Given the description of an element on the screen output the (x, y) to click on. 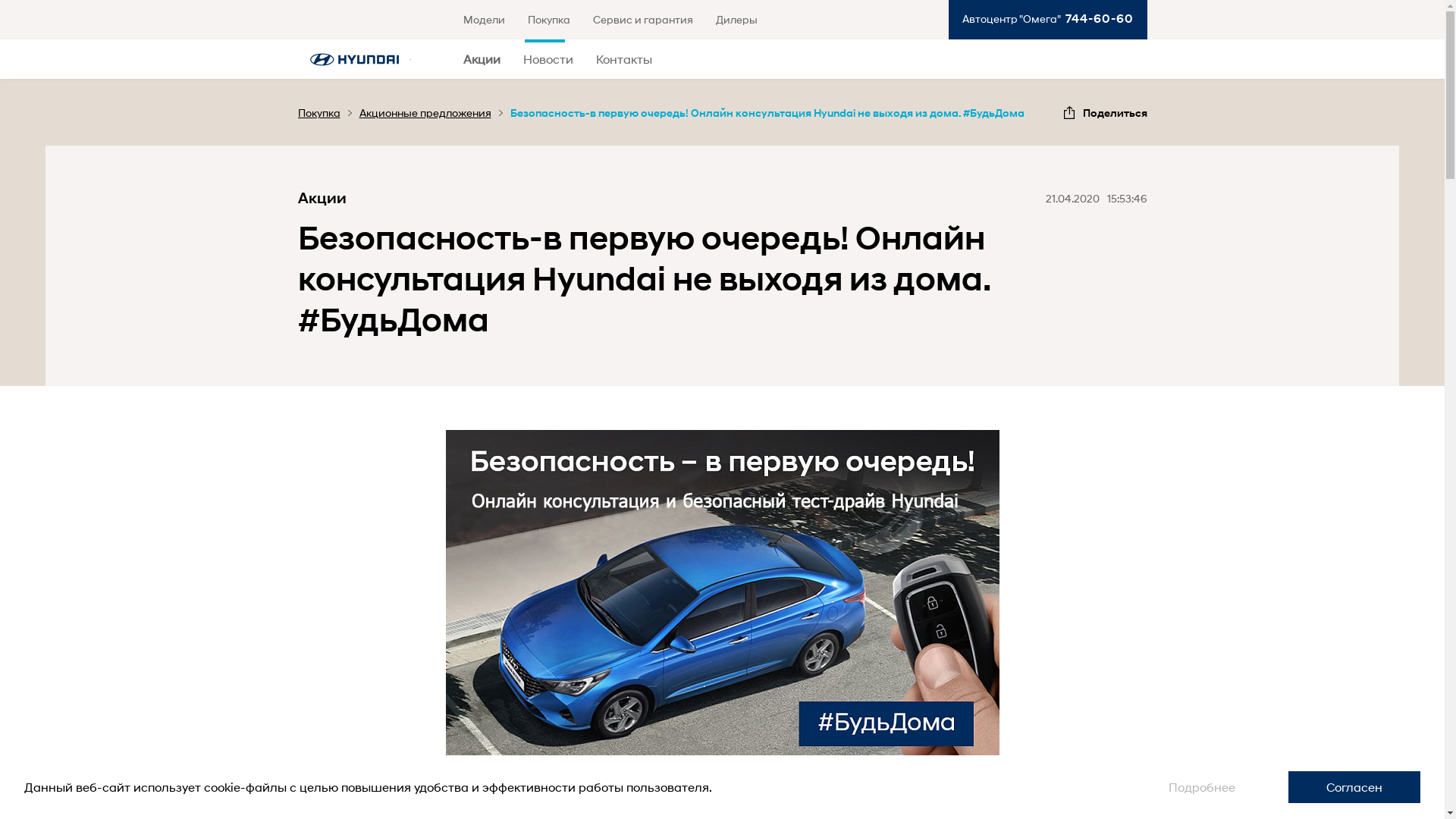
744-60-60 Element type: text (1096, 18)
